Given the description of an element on the screen output the (x, y) to click on. 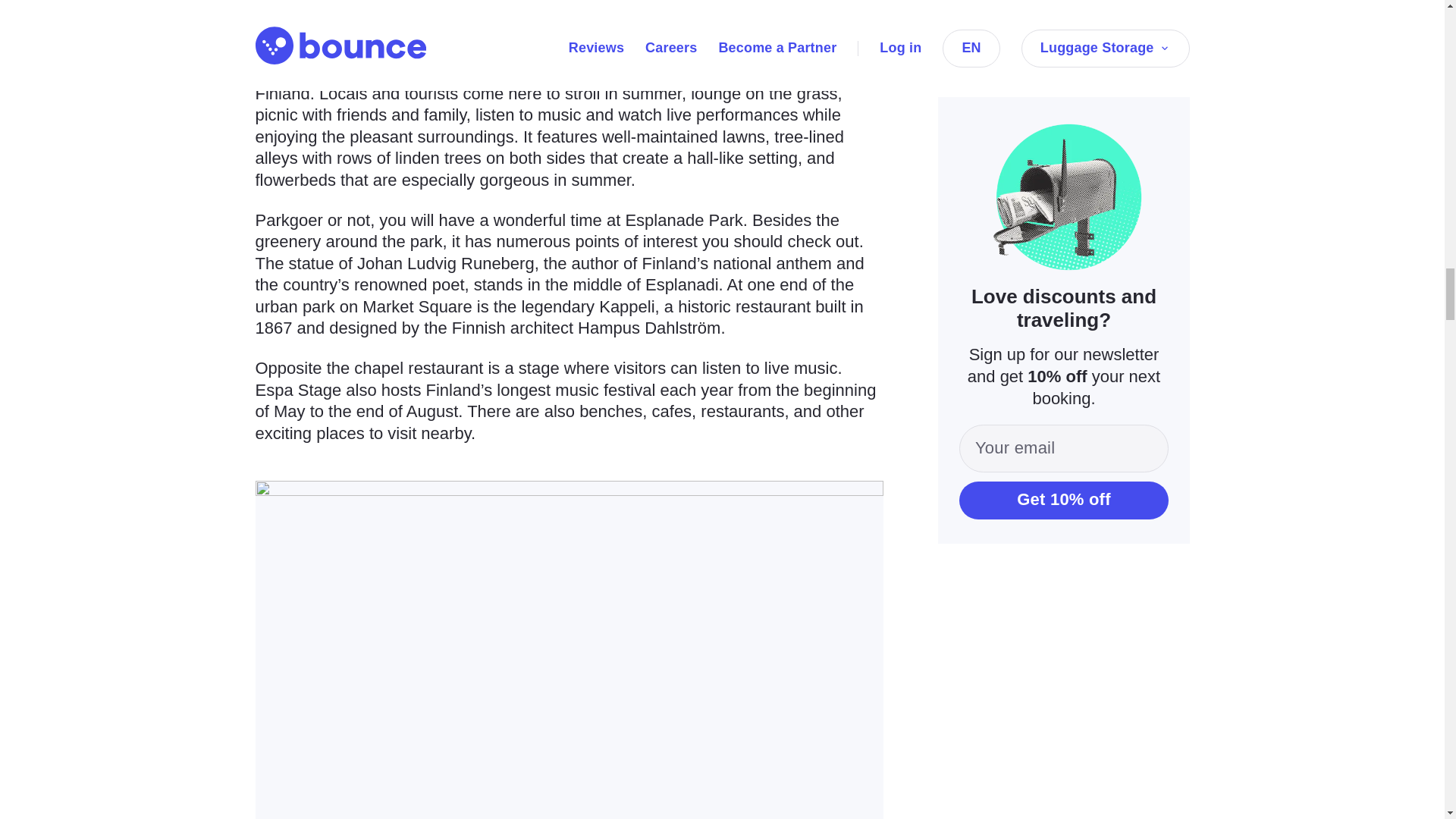
Helsinki Central Railway Station (447, 49)
